Given the description of an element on the screen output the (x, y) to click on. 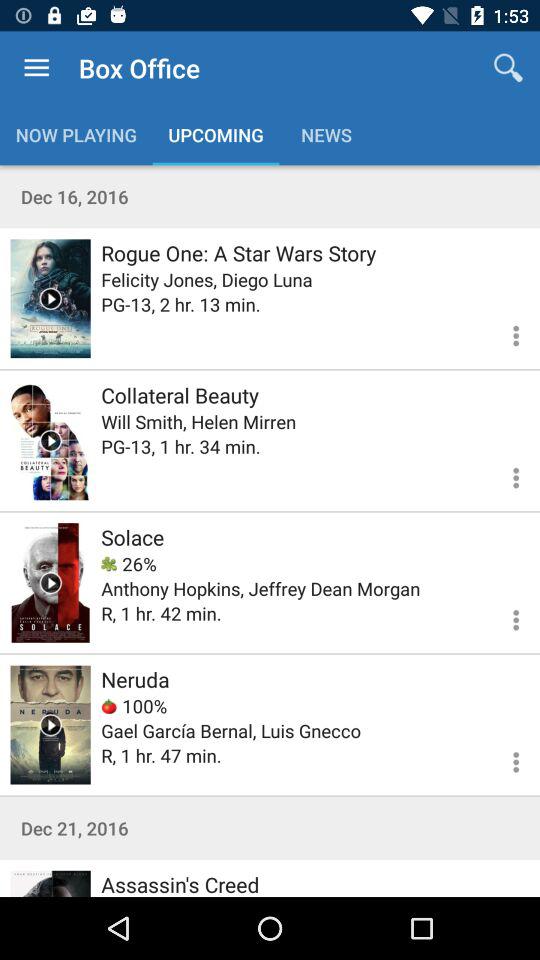
play assassin 's creed movie (50, 883)
